Given the description of an element on the screen output the (x, y) to click on. 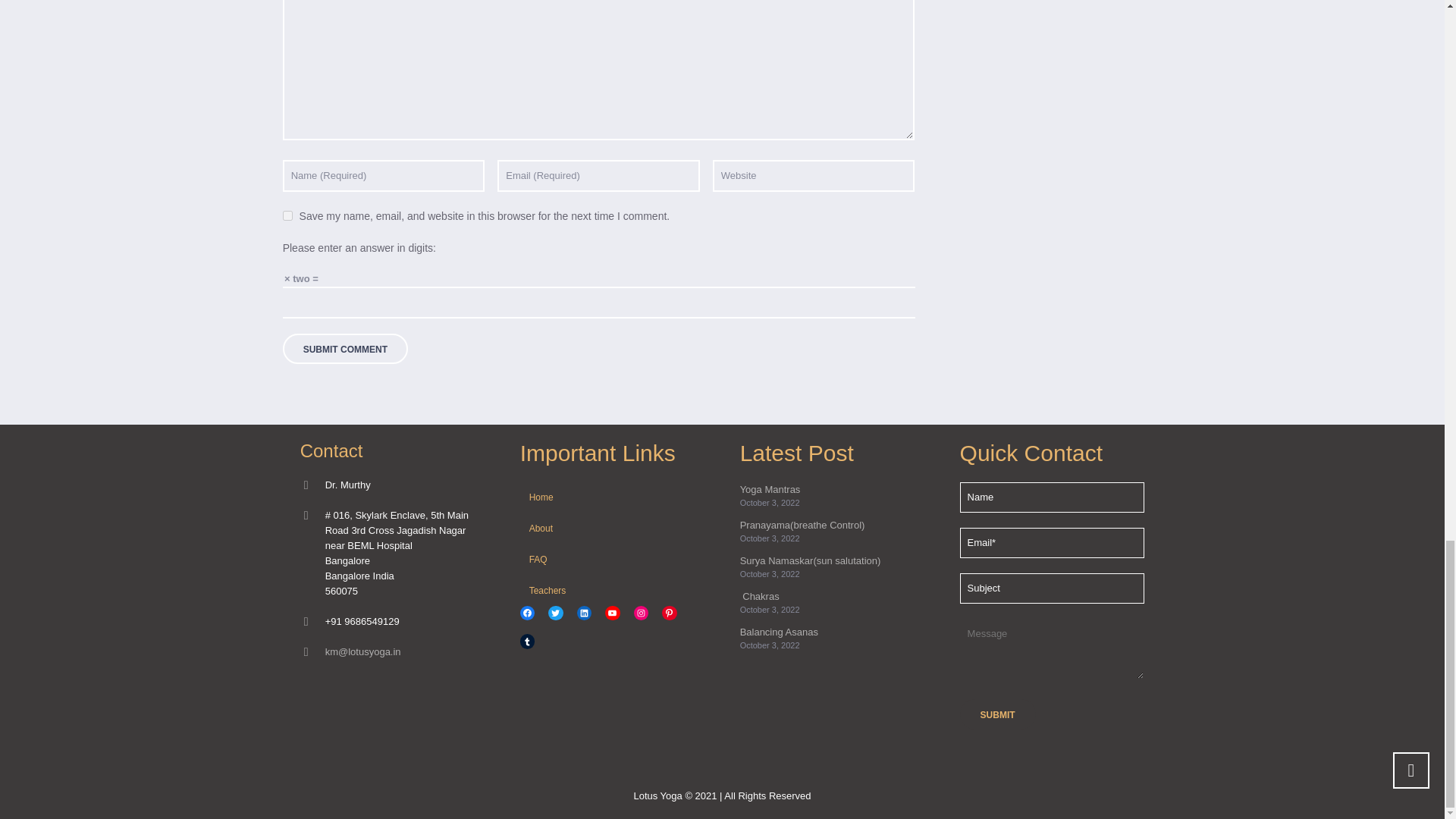
Submit Comment (344, 348)
Submit (997, 714)
Submit Comment (344, 348)
yes (287, 215)
